Given the description of an element on the screen output the (x, y) to click on. 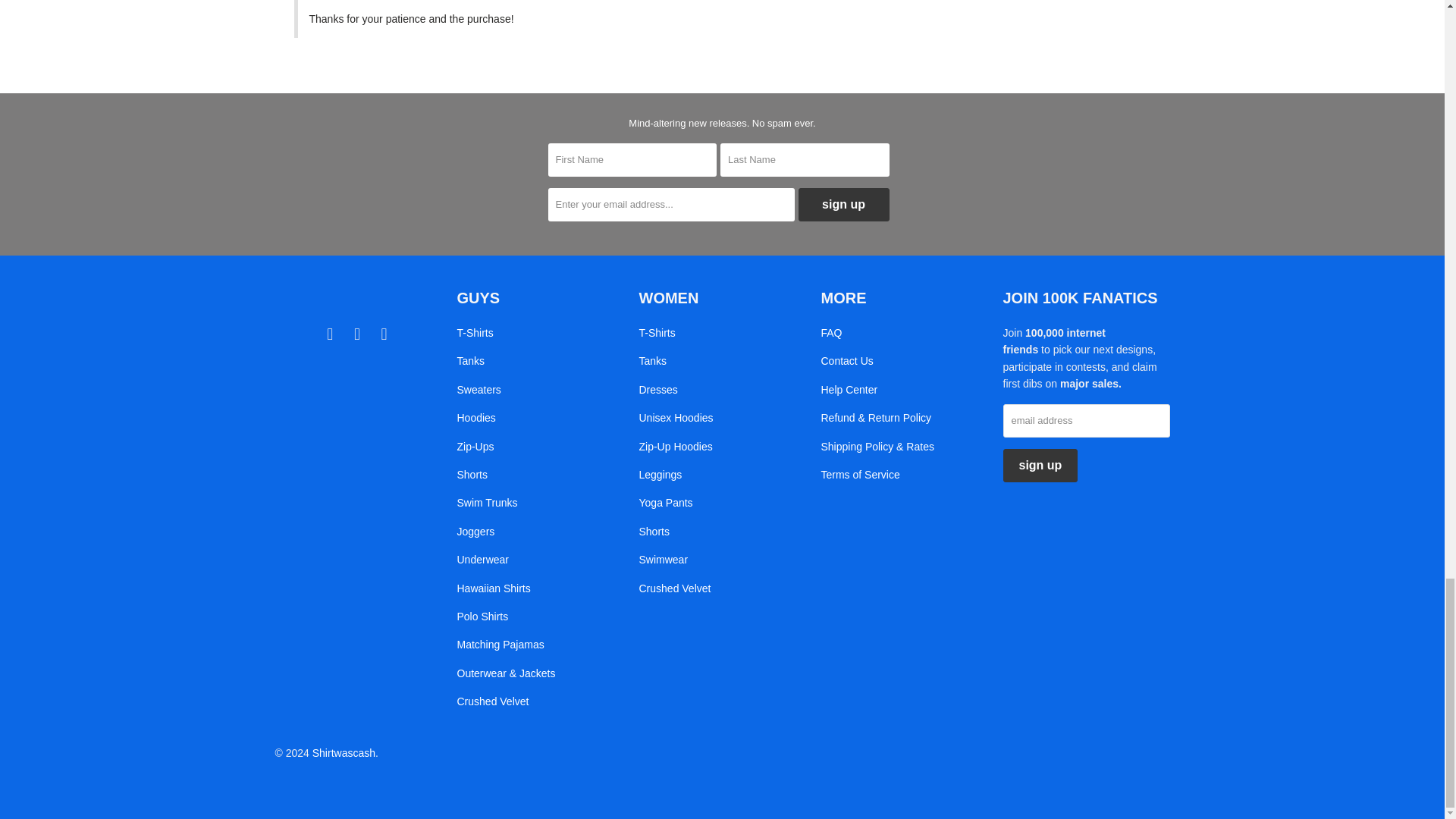
SIGN UP (1040, 465)
Sign Up (842, 204)
Shirtwascash on Facebook (357, 334)
Shirtwascash on Instagram (384, 334)
Shirtwascash on Twitter (330, 334)
